Given the description of an element on the screen output the (x, y) to click on. 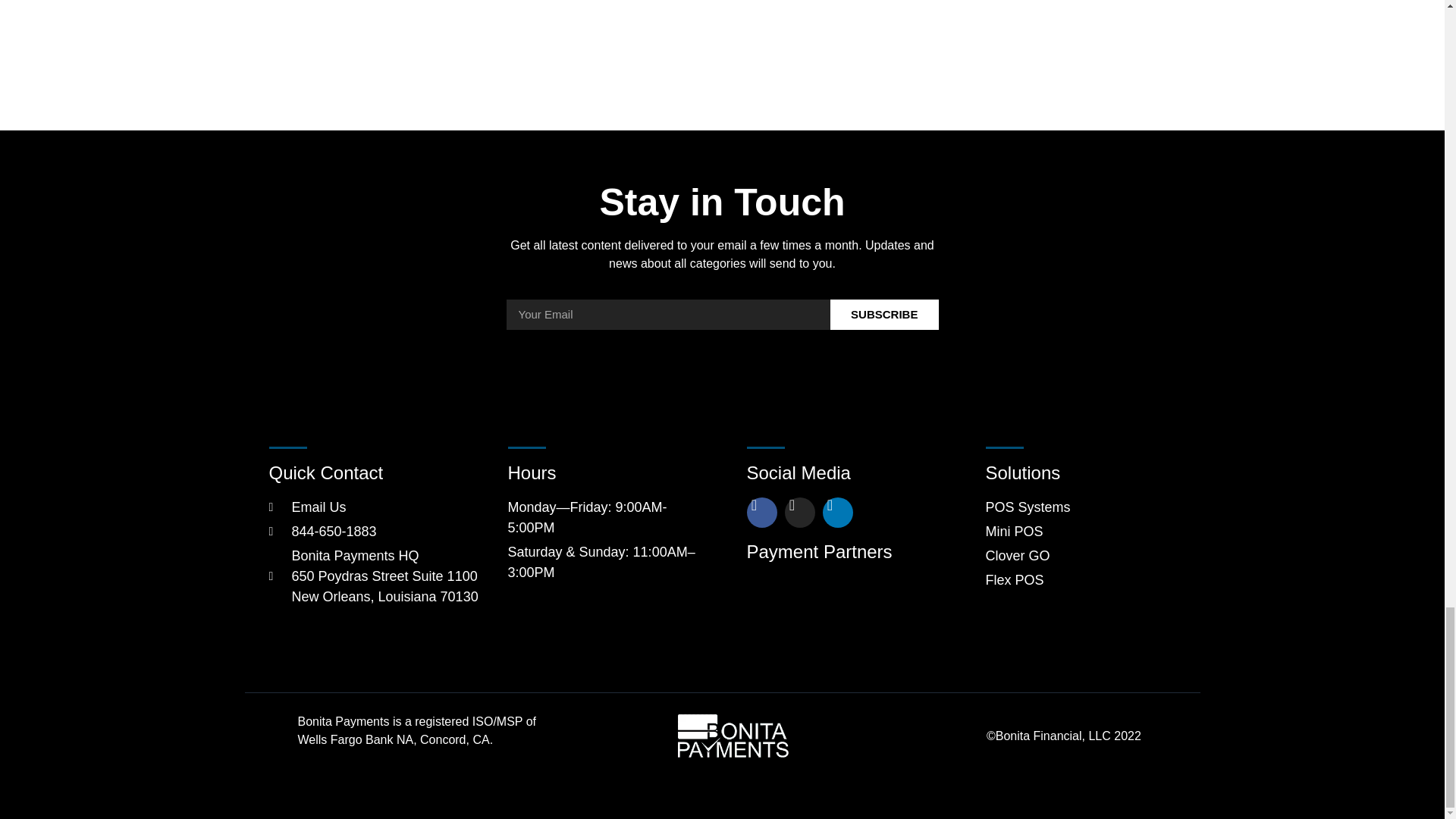
Payment Partners (1080, 543)
SUBSCRIBE (840, 551)
Social Media (884, 314)
Quick Contact (840, 473)
Hours (375, 473)
Solutions (603, 473)
Email Us (1080, 473)
Stay in Touch (375, 507)
SUBSCRIBE (722, 202)
